Given the description of an element on the screen output the (x, y) to click on. 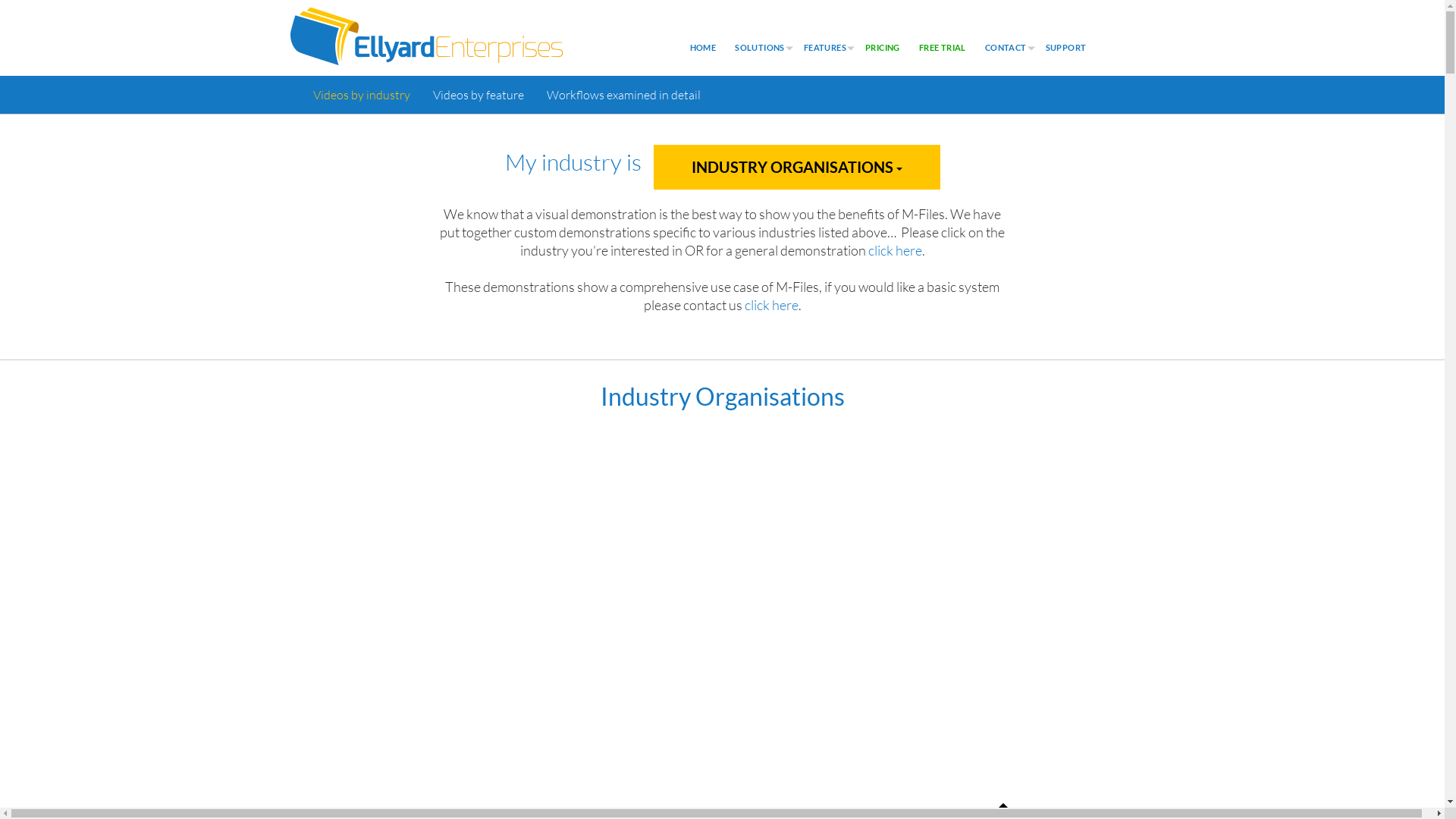
FREE TRIAL Element type: text (942, 47)
SUPPORT Element type: text (1065, 47)
INDUSTRY ORGANISATIONS Element type: text (796, 166)
PRICING Element type: text (882, 47)
Videos by feature Element type: text (478, 94)
Skip to content Element type: text (0, 0)
CONTACT Element type: text (1005, 47)
FEATURES Element type: text (824, 47)
click here Element type: text (894, 249)
HOME Element type: text (703, 47)
SOLUTIONS Element type: text (759, 47)
Videos by industry Element type: text (361, 94)
click here Element type: text (771, 304)
Workflows examined in detail Element type: text (623, 94)
